Given the description of an element on the screen output the (x, y) to click on. 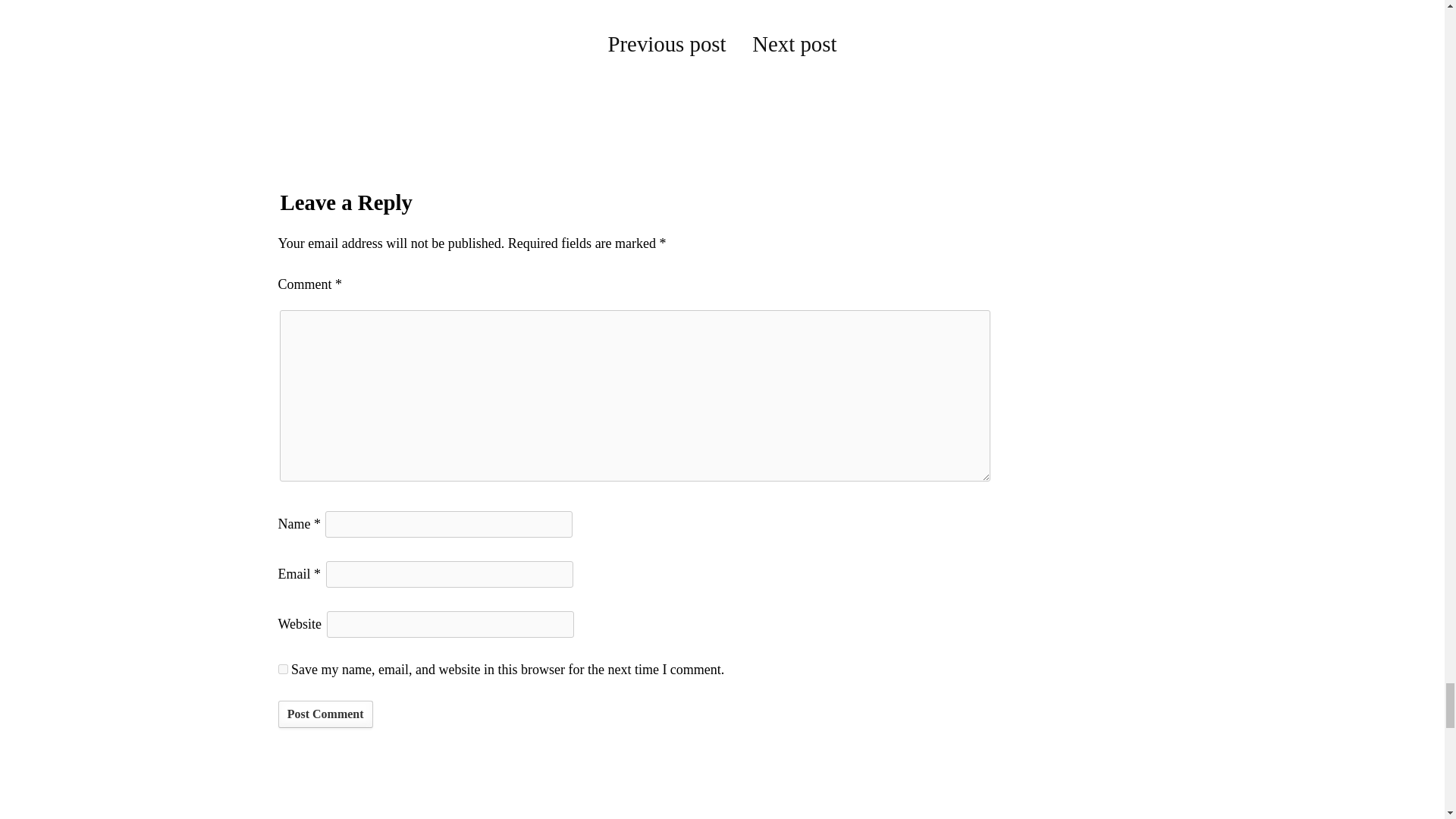
Post Comment (325, 714)
Post Comment (325, 714)
Next post (793, 43)
Previous post (667, 43)
yes (282, 669)
